Given the description of an element on the screen output the (x, y) to click on. 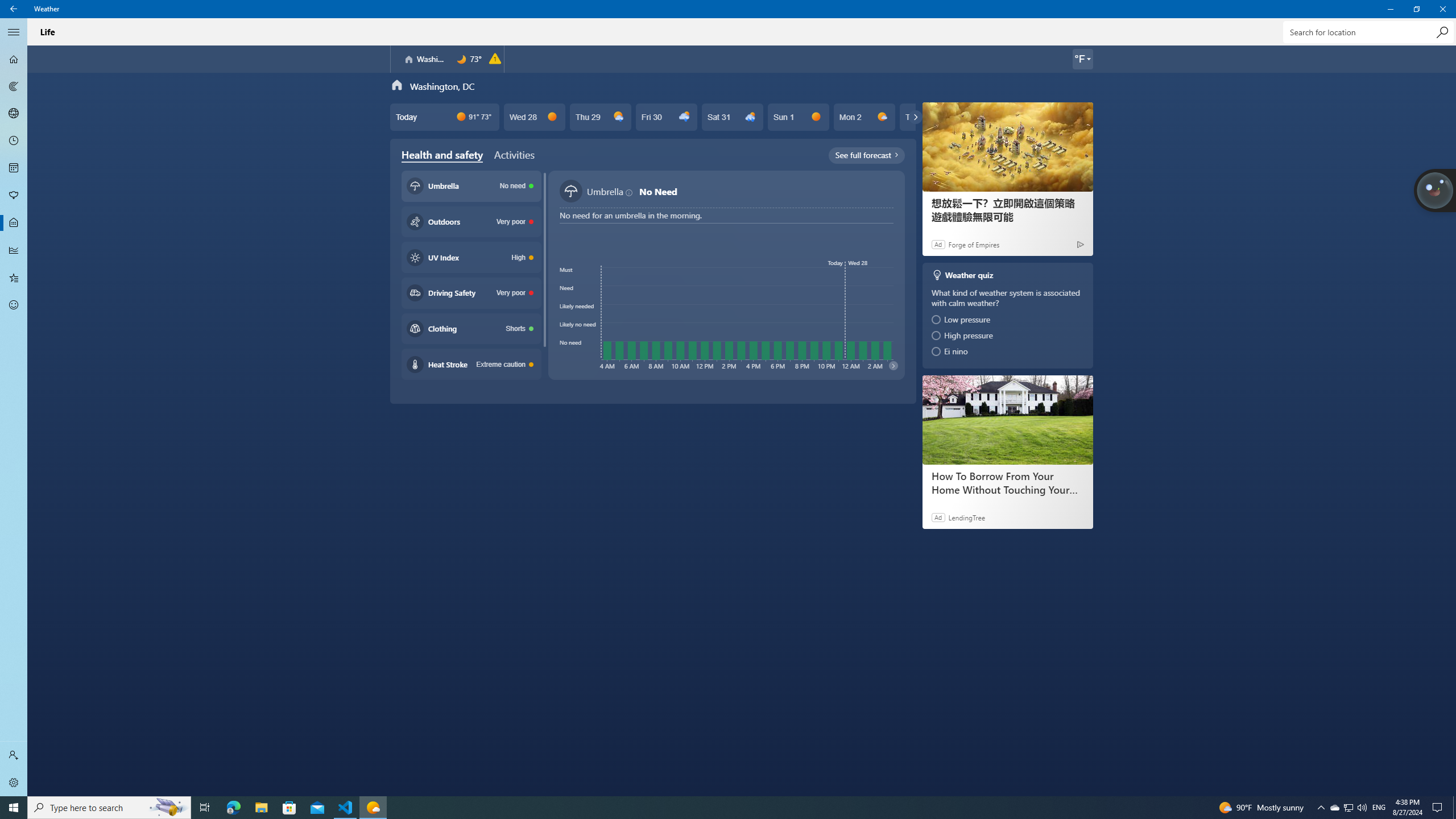
Hourly Forecast - Not Selected (13, 140)
Forecast - Not Selected (13, 58)
Favorites - Not Selected (13, 277)
Maps - Not Selected (13, 85)
Restore Weather (1416, 9)
Monthly Forecast - Not Selected (13, 167)
Favorites - Not Selected (13, 277)
Historical Weather - Not Selected (13, 249)
